Given the description of an element on the screen output the (x, y) to click on. 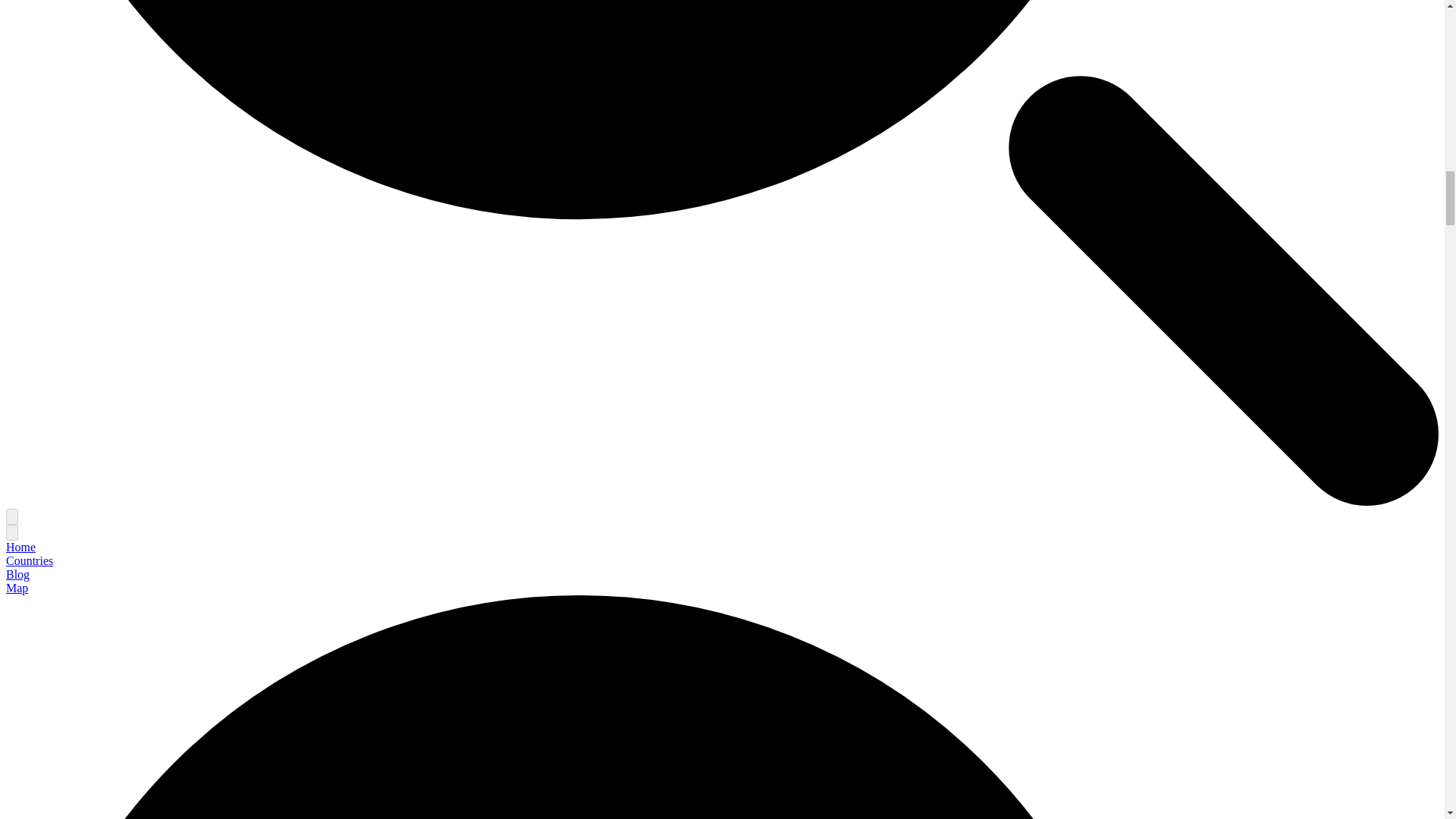
Home (19, 546)
Map (16, 587)
Map (16, 587)
Countries (28, 560)
Countries (28, 560)
Blog (17, 574)
Blog (17, 574)
Home (19, 546)
